Given the description of an element on the screen output the (x, y) to click on. 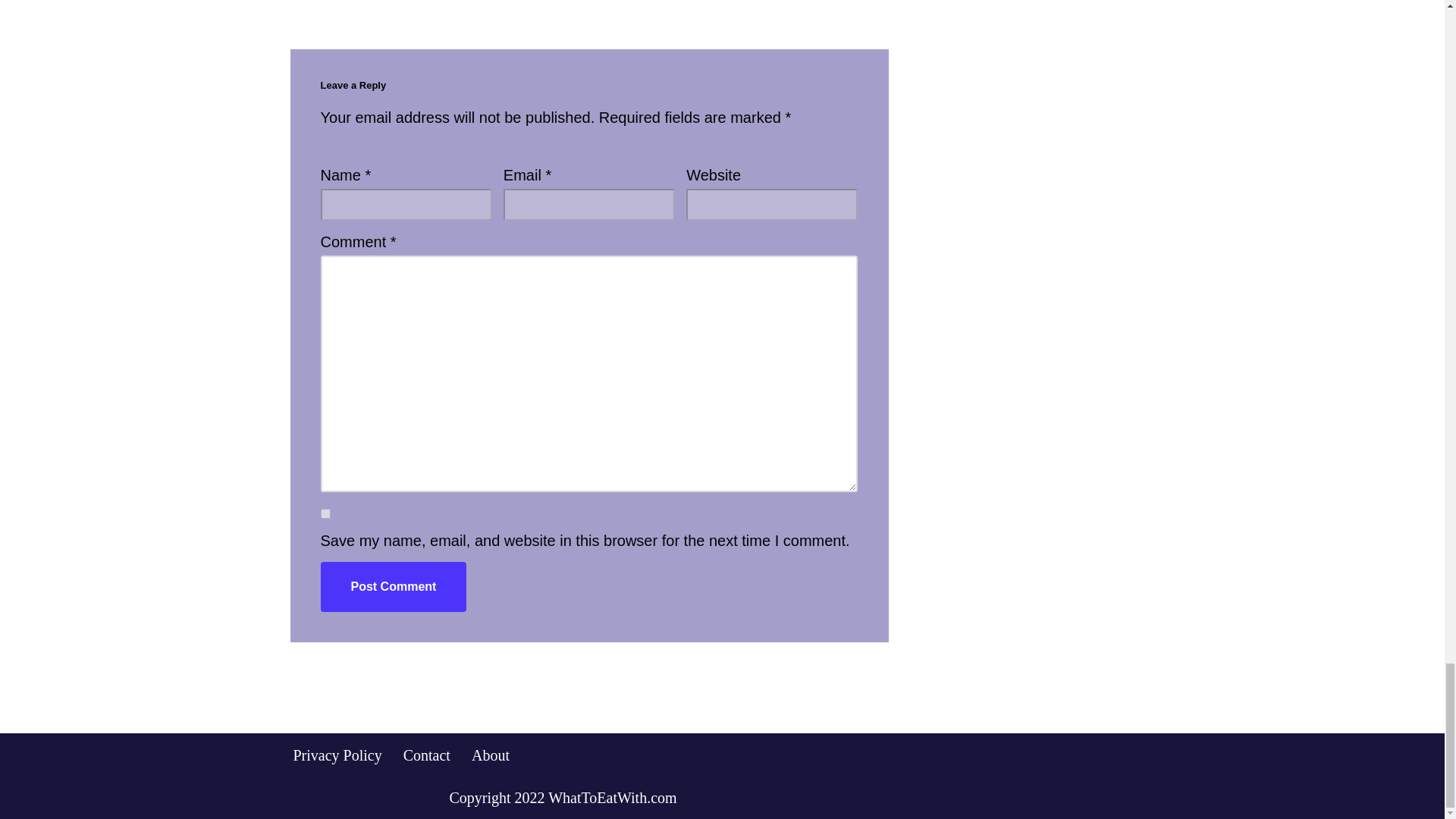
Contact (426, 754)
Privacy Policy (336, 754)
Post Comment (392, 586)
About (490, 754)
Post Comment (392, 586)
yes (325, 513)
